Given the description of an element on the screen output the (x, y) to click on. 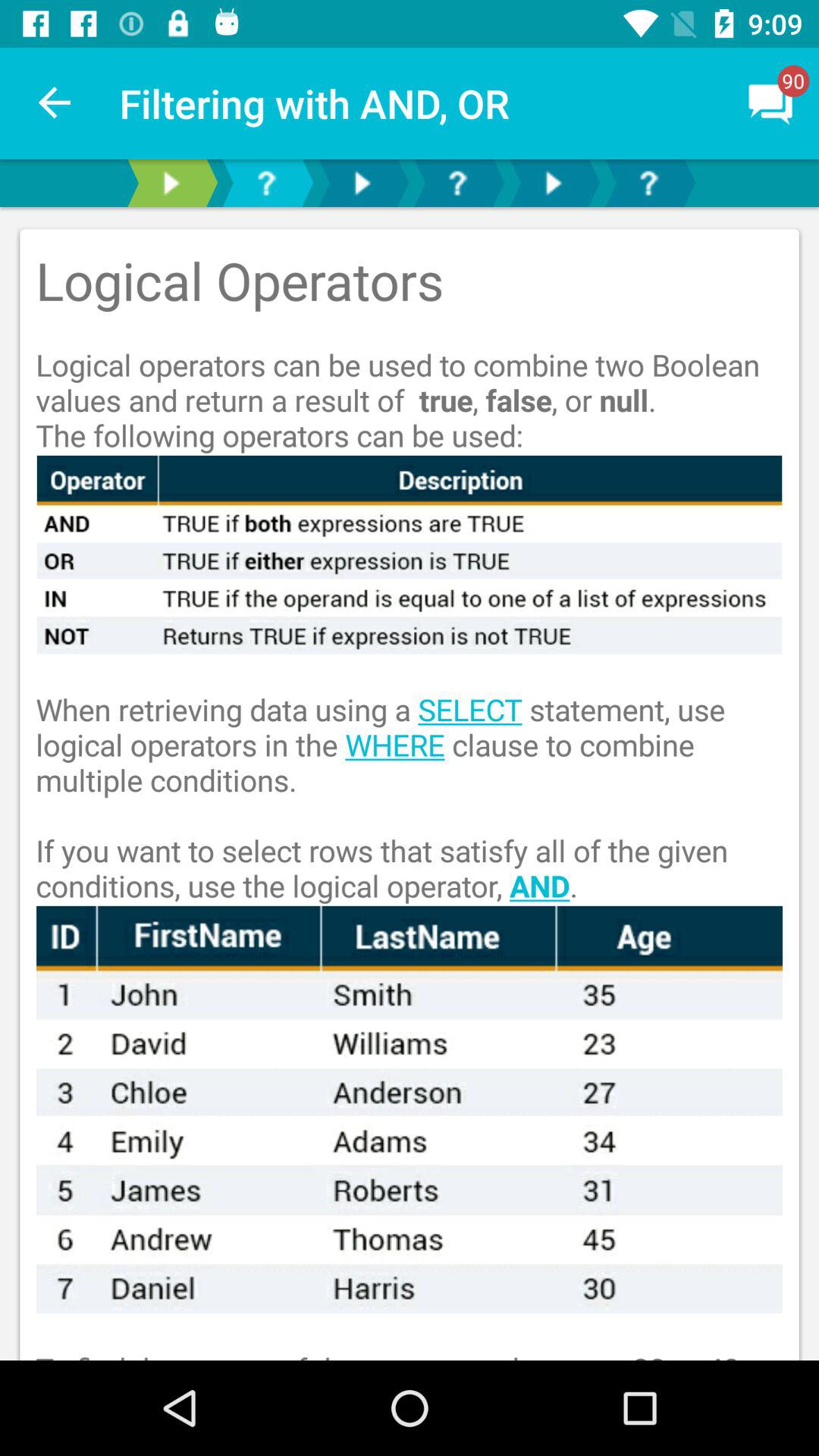
help (265, 183)
